Given the description of an element on the screen output the (x, y) to click on. 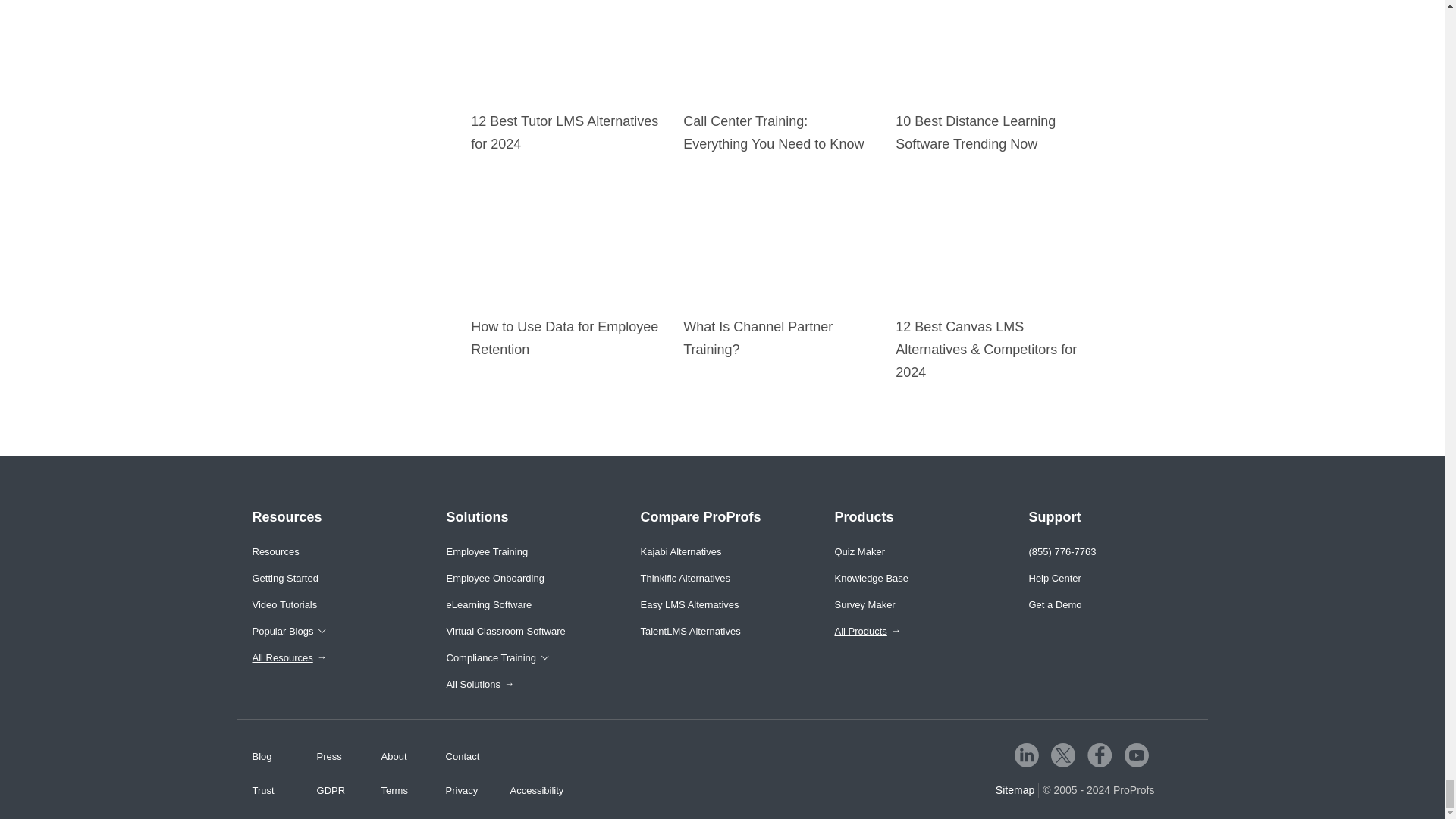
Follow us on linkedIn (1026, 754)
Follow us on facebook (1099, 754)
Follow us on Youtube (1136, 754)
